Given the description of an element on the screen output the (x, y) to click on. 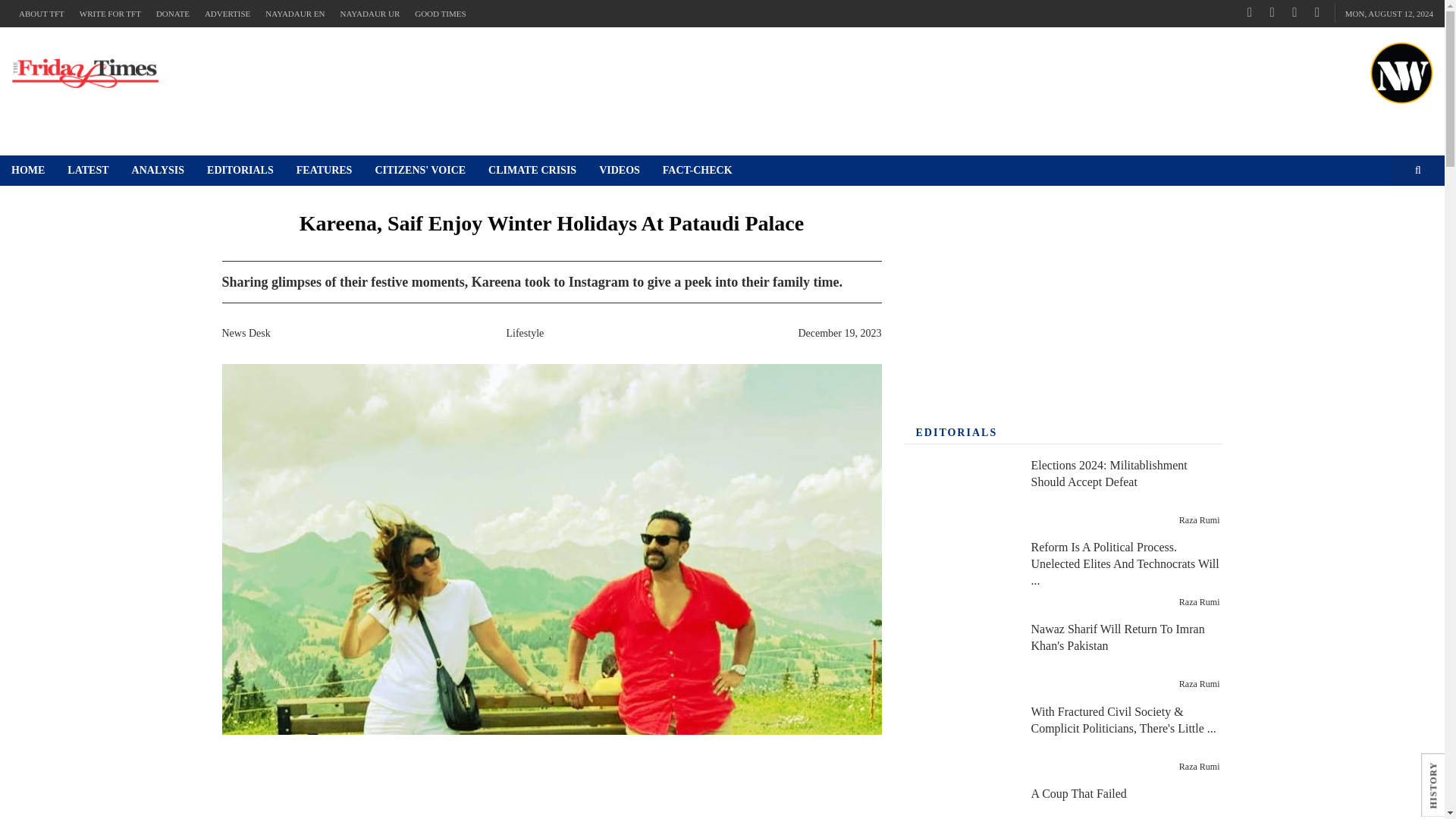
CITIZENS' VOICE (419, 170)
GOOD TIMES (440, 13)
EDITORIALS (240, 170)
CLIMATE CRISIS (532, 170)
FACT-CHECK (697, 170)
FEATURES (324, 170)
LATEST (87, 170)
ADVERTISE (226, 13)
